Given the description of an element on the screen output the (x, y) to click on. 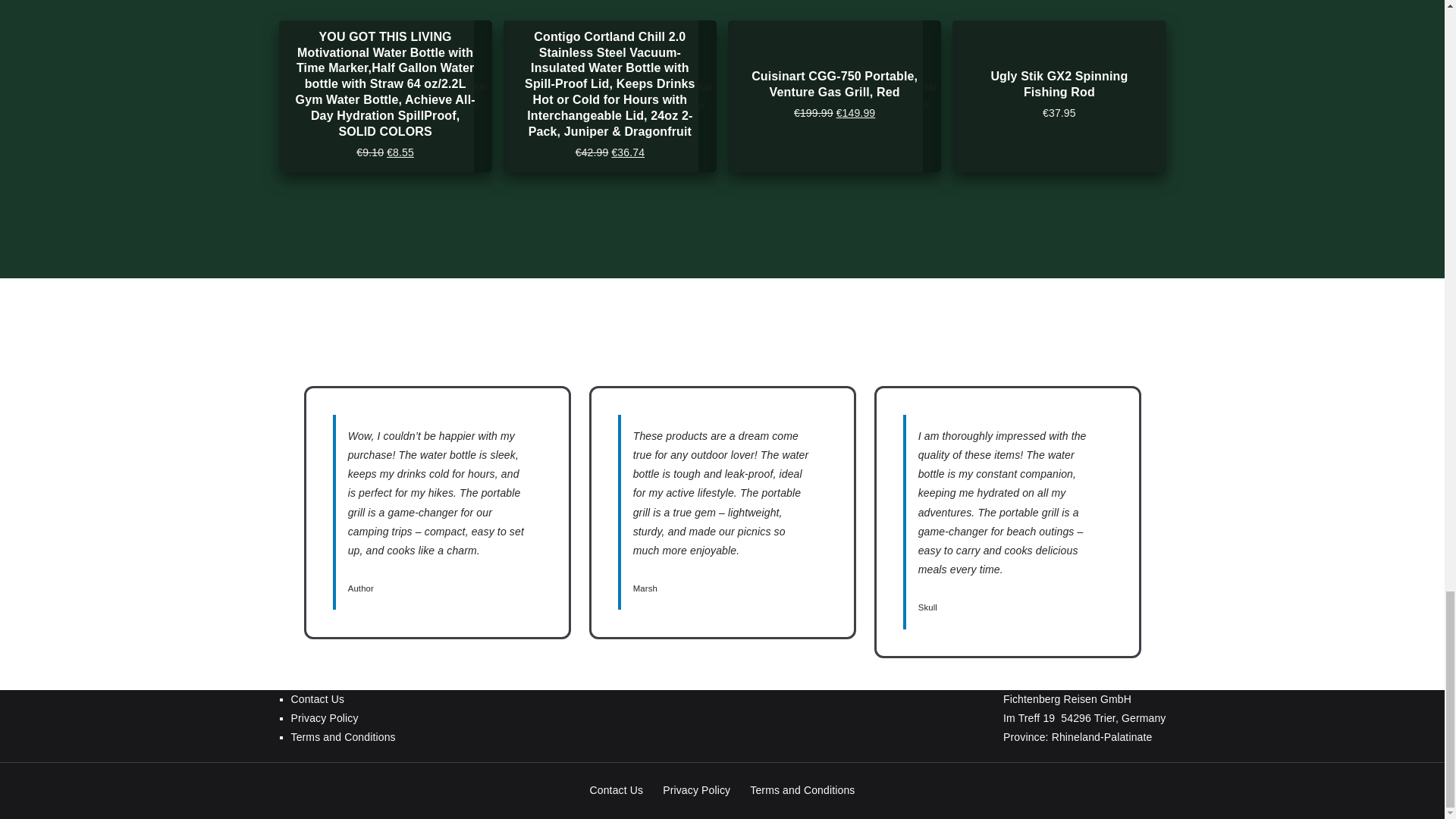
Privacy Policy (696, 790)
Terms and Conditions (802, 790)
Terms and Conditions (343, 737)
Contact Us (617, 790)
Cuisinart CGG-750 Portable, Venture Gas Grill, Red (834, 83)
Privacy Policy (343, 718)
Contact Us (343, 699)
Ugly Stik GX2 Spinning Fishing Rod (1058, 83)
